Given the description of an element on the screen output the (x, y) to click on. 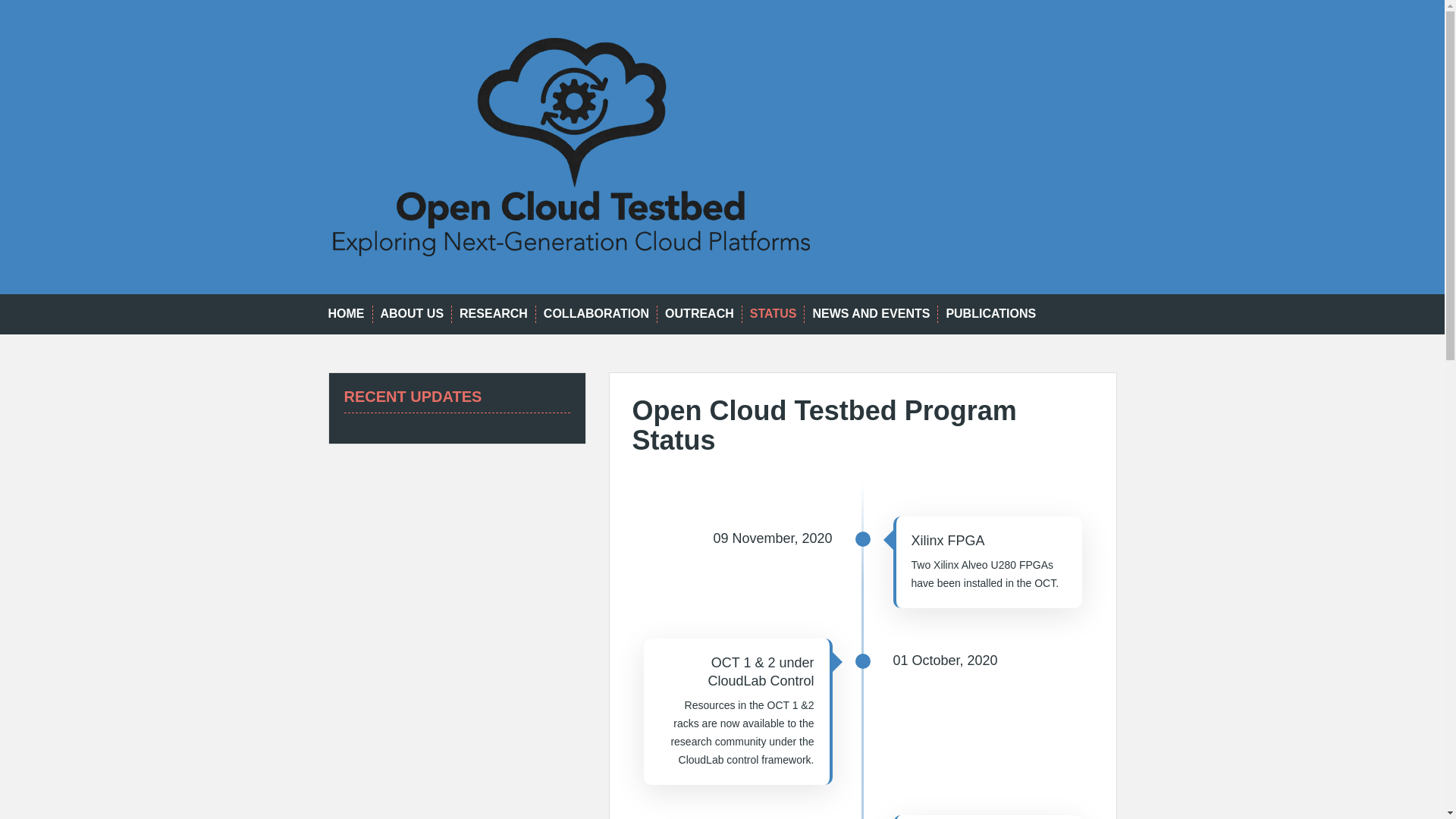
NEWS AND EVENTS (871, 313)
HOME (345, 313)
RESEARCH (493, 313)
Open Cloud Testbed (569, 146)
PUBLICATIONS (989, 313)
ABOUT US (412, 313)
COLLABORATION (596, 313)
OUTREACH (699, 313)
STATUS (772, 313)
